Given the description of an element on the screen output the (x, y) to click on. 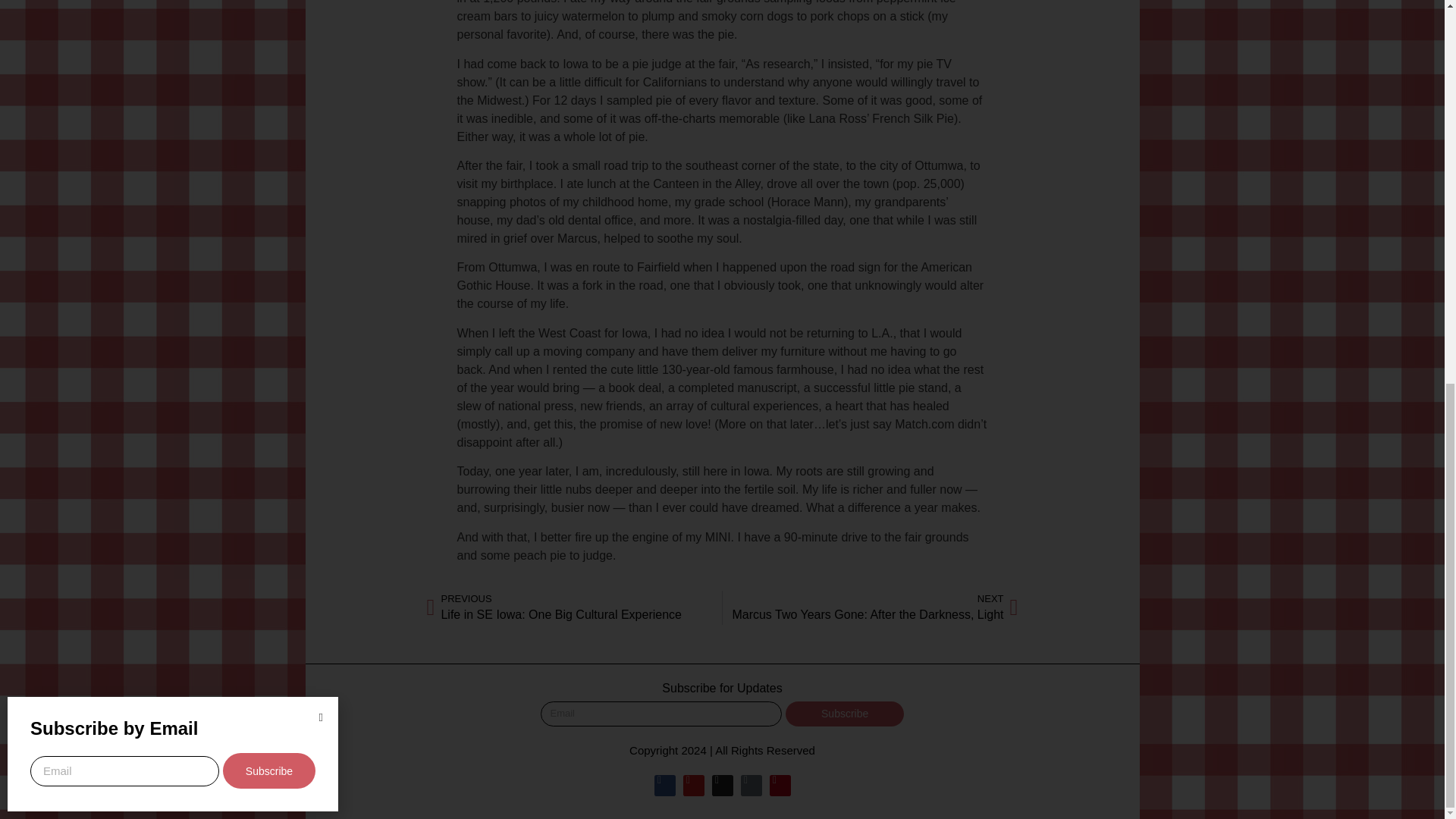
Subscribe by Email (869, 607)
Subscribe (114, 9)
